Given the description of an element on the screen output the (x, y) to click on. 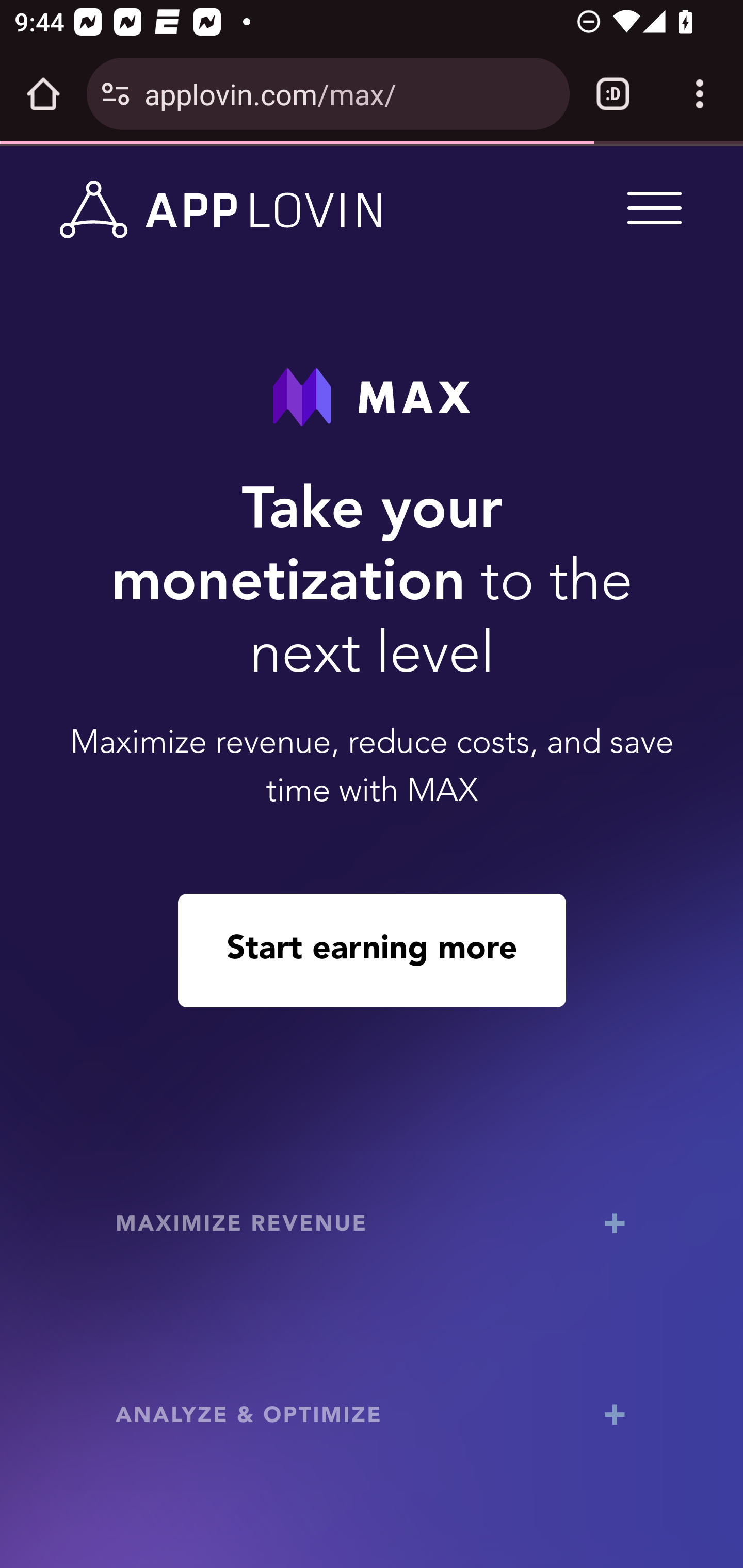
Open the home page (43, 93)
Connection is secure (115, 93)
Switch or close tabs (612, 93)
Customize and control Google Chrome (699, 93)
applovin.com/max/ (349, 92)
Menu Trigger (650, 207)
www.applovin (220, 209)
Start earning more (371, 950)
